Given the description of an element on the screen output the (x, y) to click on. 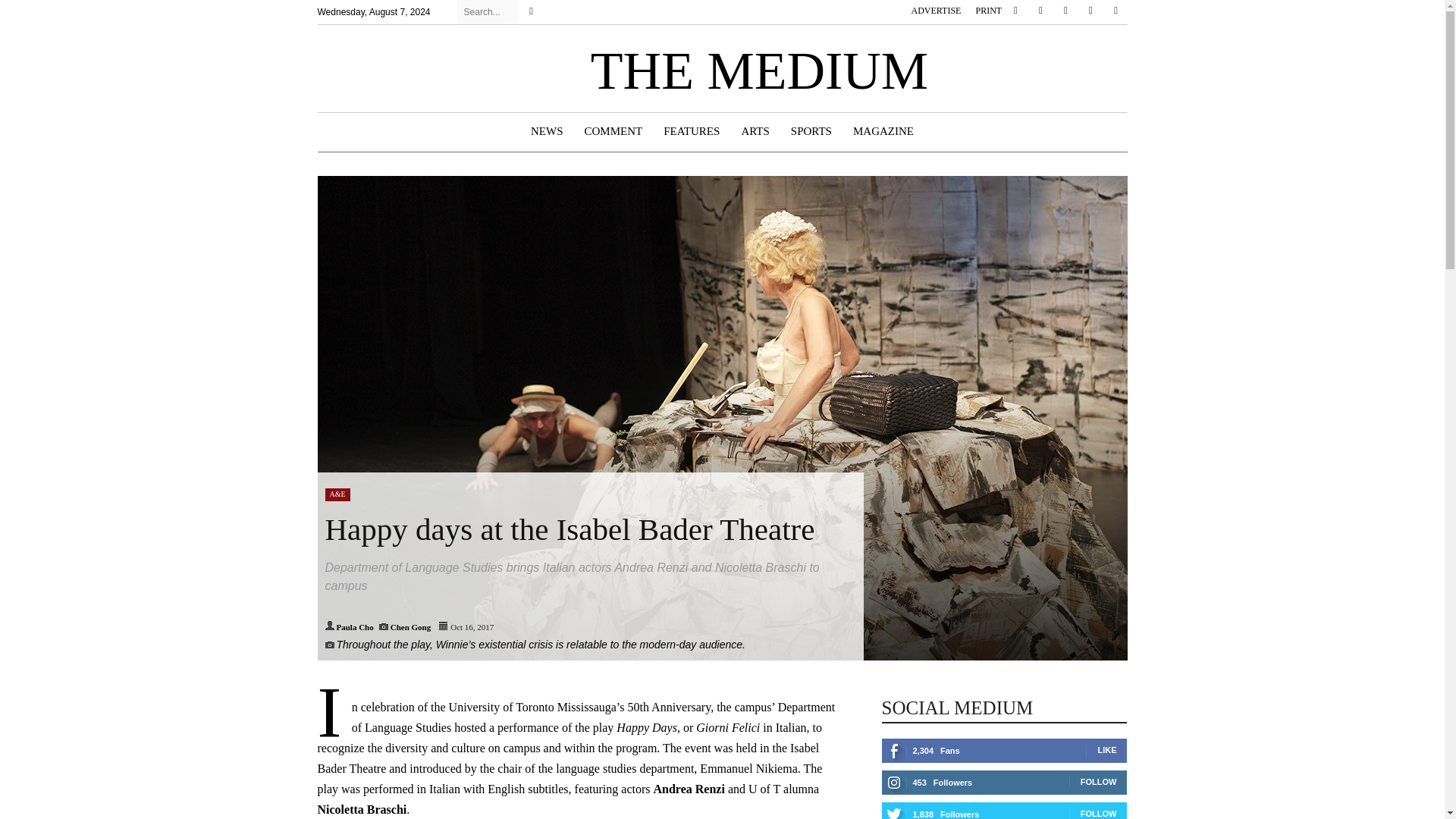
Youtube (1114, 10)
FEATURES (691, 131)
COMMENT (613, 131)
Linkedin (1065, 10)
Chen Gong (410, 626)
Twitter (1090, 10)
PRINT (989, 9)
Facebook (1015, 10)
ARTS (754, 131)
